Given the description of an element on the screen output the (x, y) to click on. 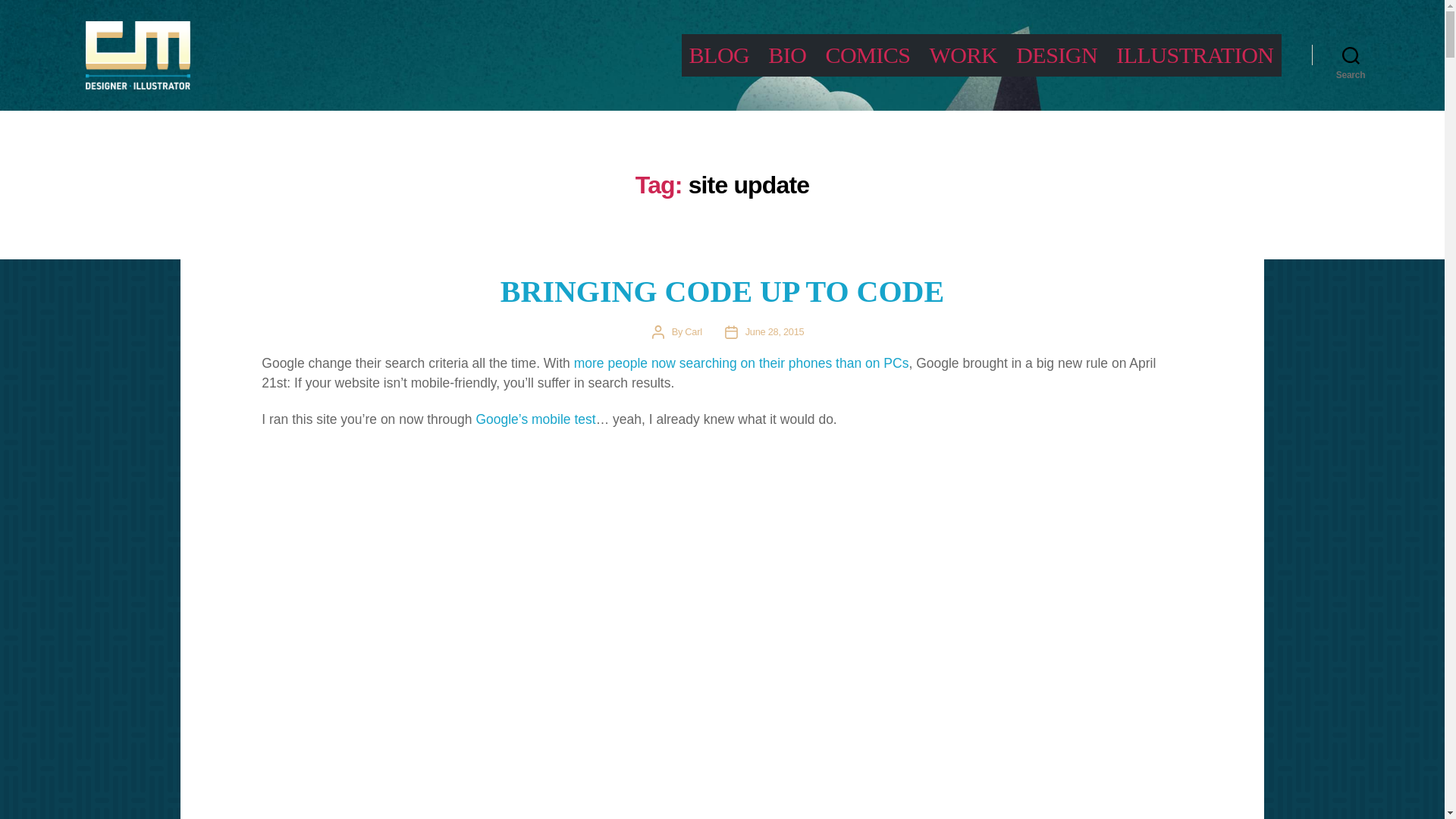
COMICS (867, 54)
Carl (692, 331)
June 28, 2015 (775, 331)
more people now searching on their phones than on PCs (740, 363)
BLOG (718, 54)
DESIGN (1056, 54)
BIO (787, 54)
BRINGING CODE UP TO CODE (721, 291)
Search (1350, 55)
WORK (962, 54)
